Given the description of an element on the screen output the (x, y) to click on. 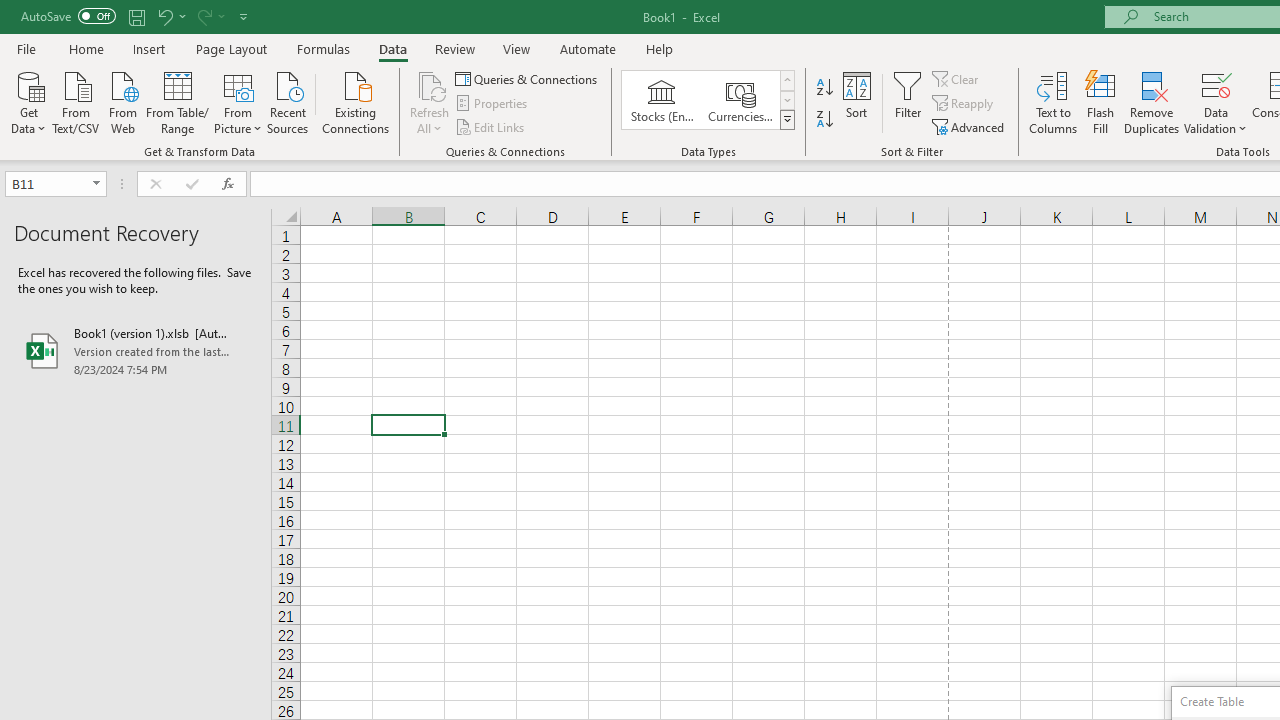
From Picture (238, 101)
